Given the description of an element on the screen output the (x, y) to click on. 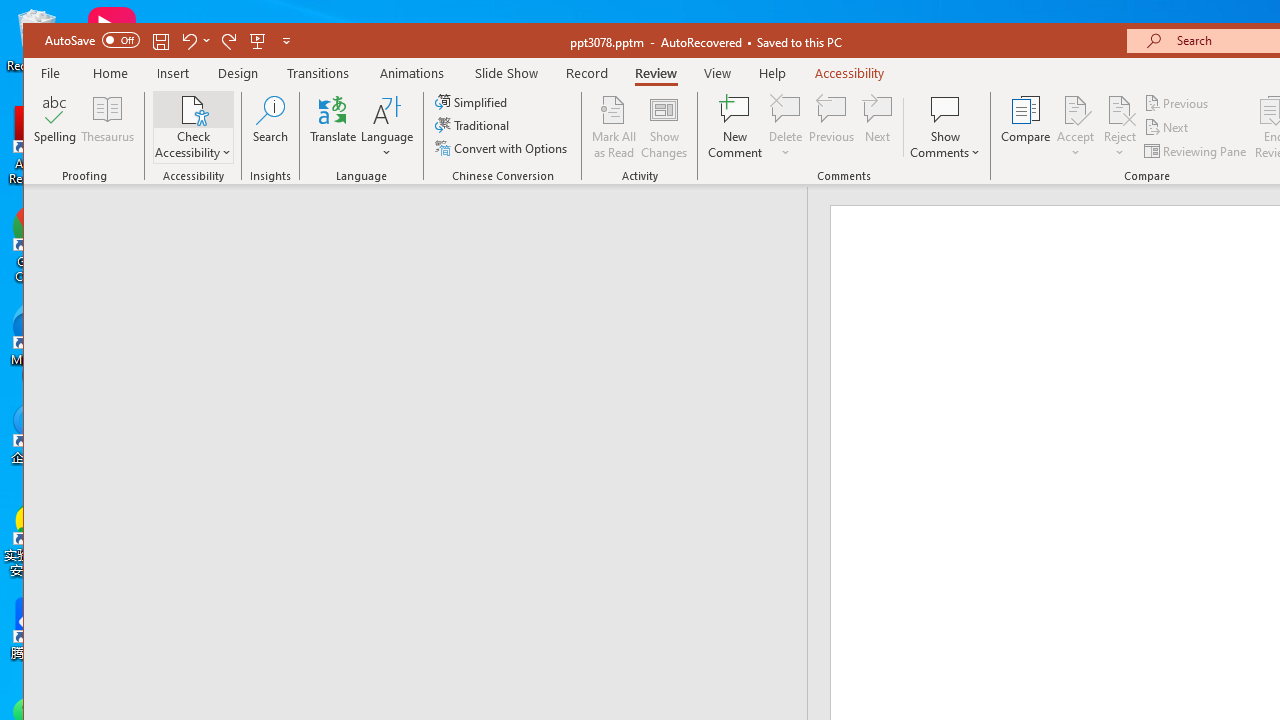
Reject (1119, 127)
